Given the description of an element on the screen output the (x, y) to click on. 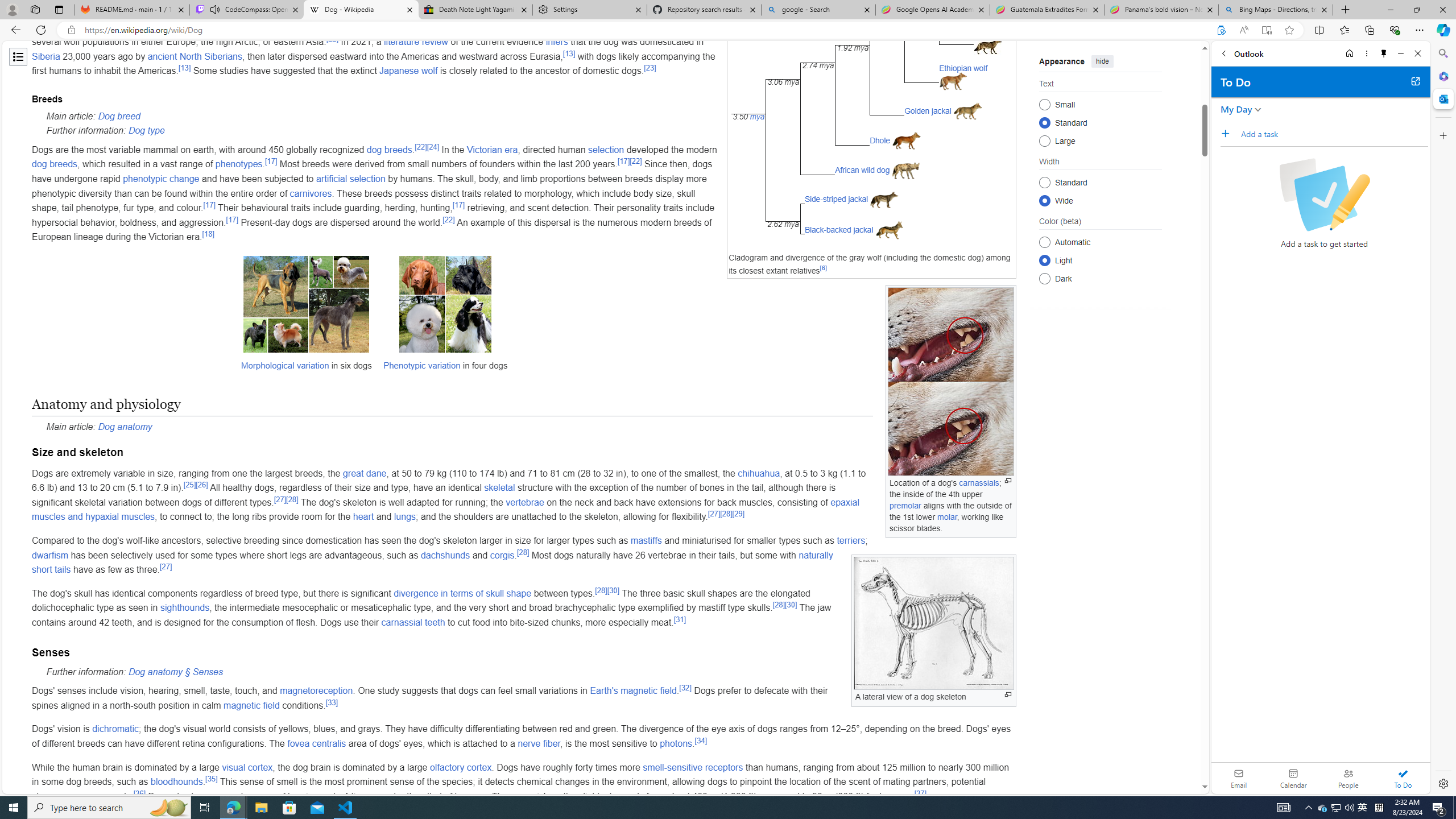
chihuahua (759, 473)
Checkbox with a pencil (1324, 194)
dichromatic (115, 728)
premolar (905, 506)
Large (1044, 140)
Standard (1044, 182)
Morphological variation (284, 365)
hide (1102, 60)
[17] (231, 219)
Class: mw-file-element (933, 623)
Add a task (1334, 133)
molar (946, 516)
nerve fiber (538, 743)
